Given the description of an element on the screen output the (x, y) to click on. 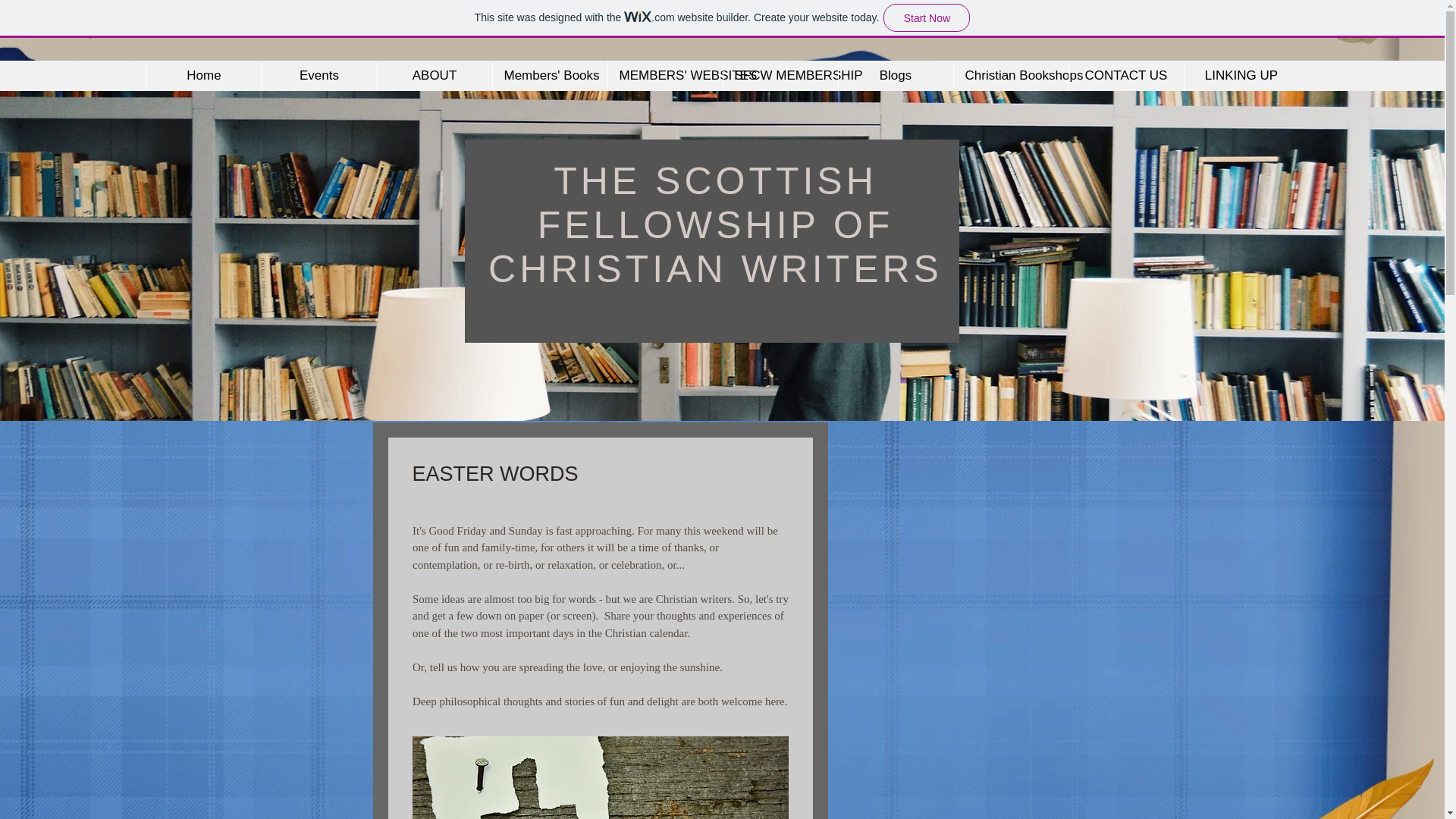
Blogs (894, 75)
MEMBERS' WEBSITES (664, 75)
Members' Books (549, 75)
ABOUT (433, 75)
CONTACT US (1124, 75)
Home (202, 75)
Christian Bookshops (1009, 75)
Events (317, 75)
LINKING UP (1240, 75)
SFCW MEMBERSHIP (779, 75)
